Given the description of an element on the screen output the (x, y) to click on. 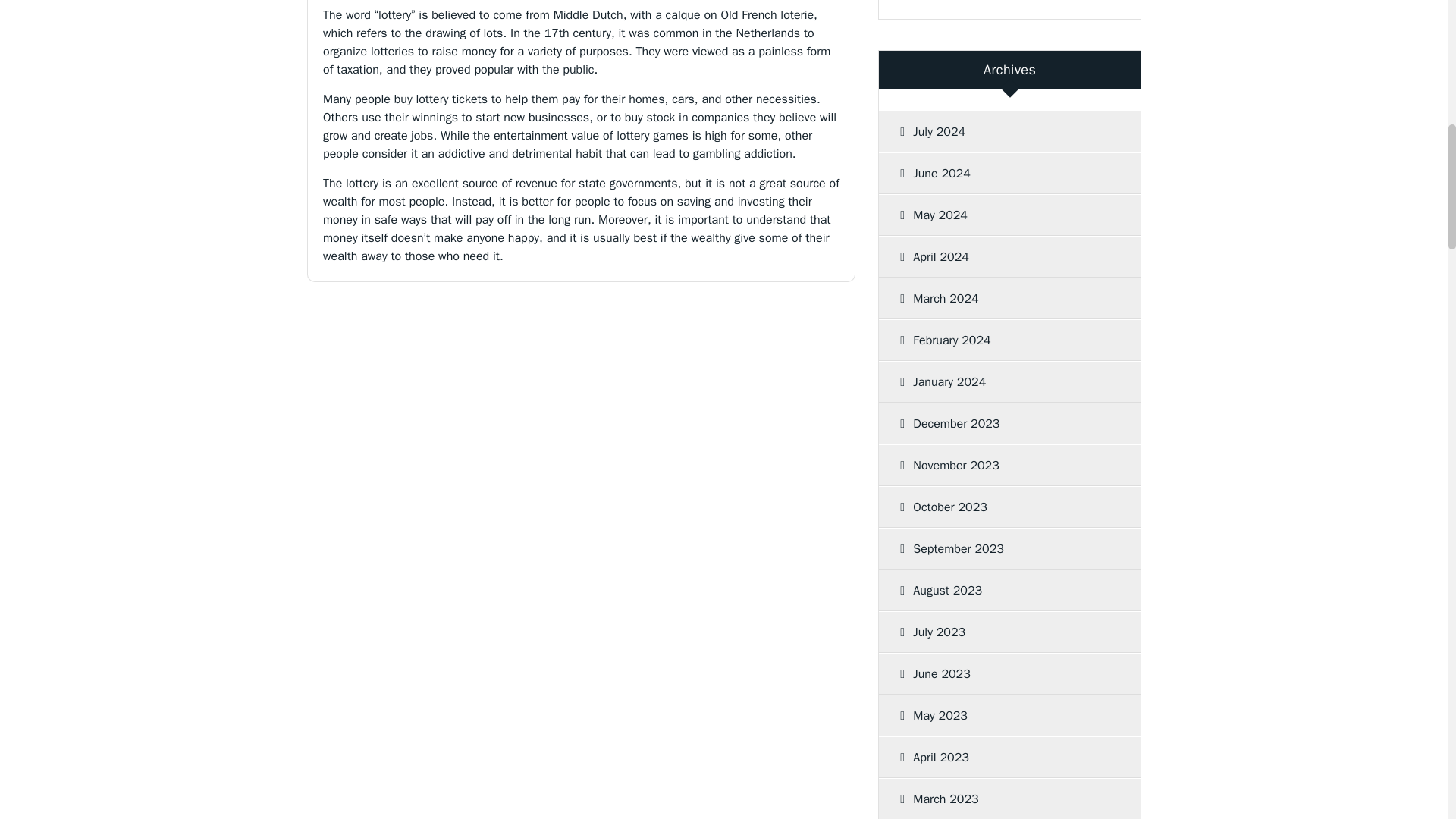
July 2024 (1004, 131)
June 2024 (1004, 173)
